Given the description of an element on the screen output the (x, y) to click on. 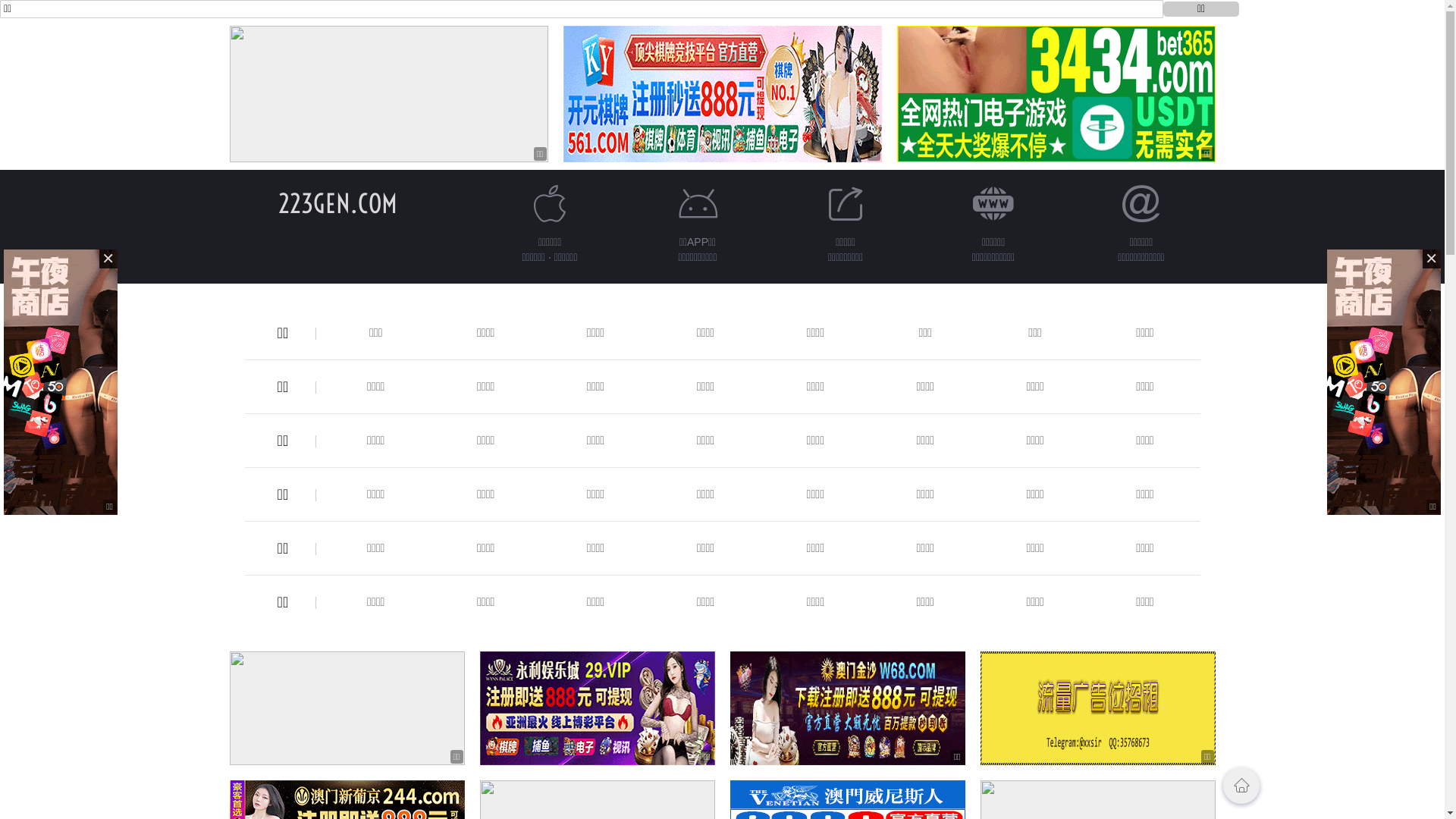
223GEN.COM Element type: text (337, 203)
